Given the description of an element on the screen output the (x, y) to click on. 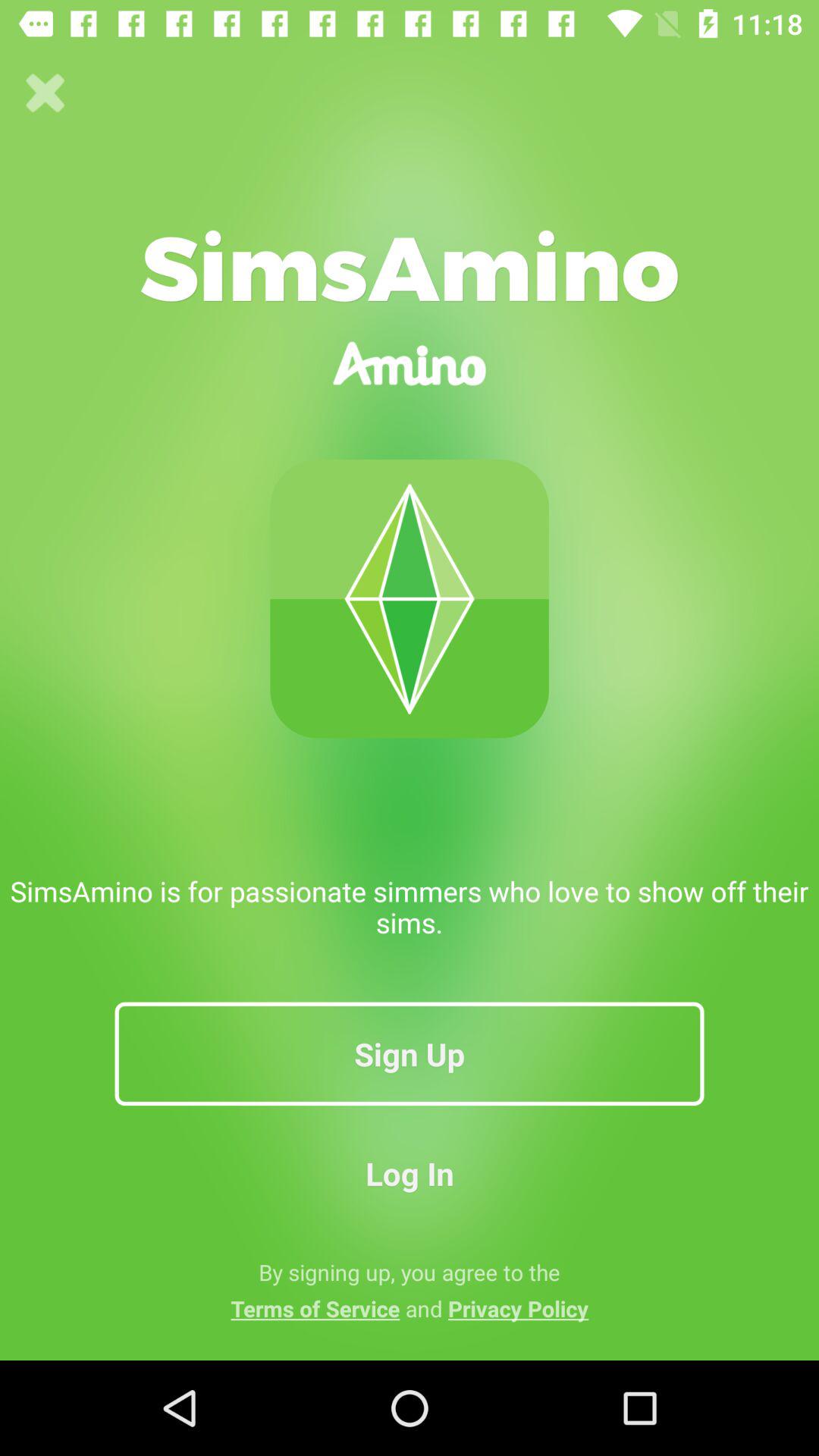
close app (45, 93)
